Given the description of an element on the screen output the (x, y) to click on. 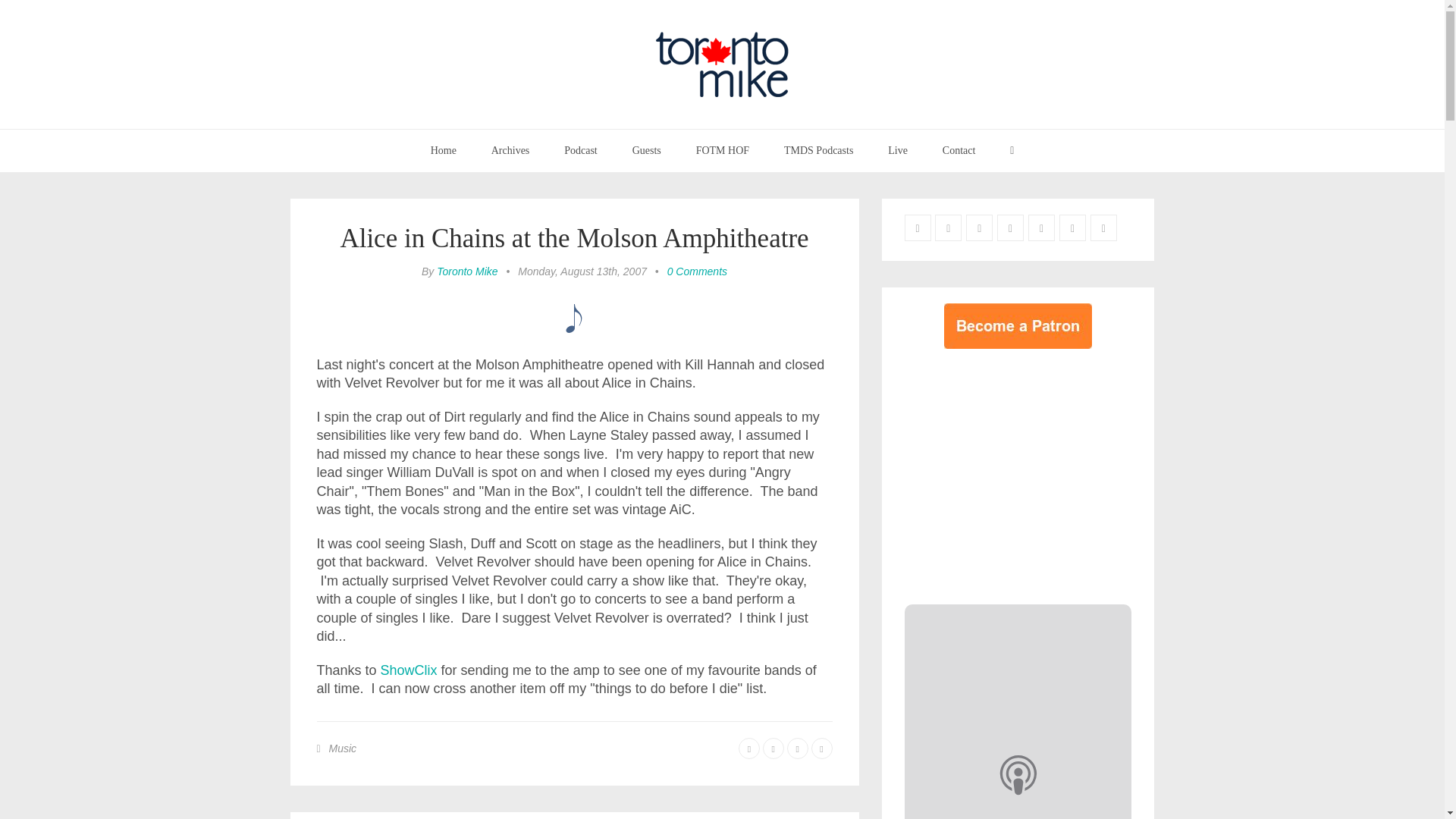
Podcast (580, 150)
Home (442, 150)
ShowClix (409, 670)
Live (897, 150)
TMDS Podcasts (818, 150)
Advertisement (1031, 472)
0 Comments (696, 271)
Guests (646, 150)
FOTM HOF (722, 150)
Toronto Mike (466, 271)
Contact (958, 150)
Music (342, 747)
Archives (511, 150)
